Given the description of an element on the screen output the (x, y) to click on. 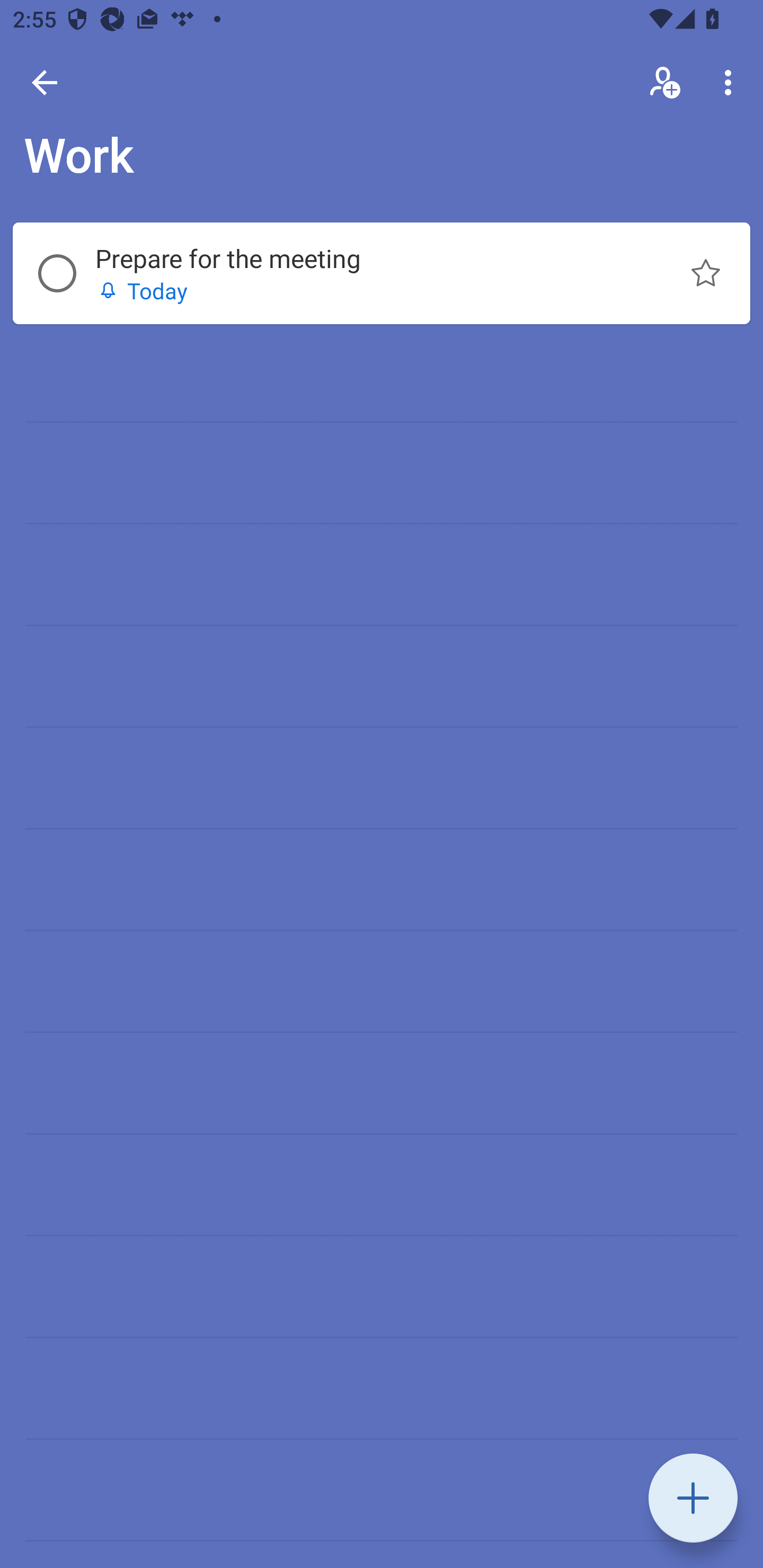
Add a task (692, 1497)
